Given the description of an element on the screen output the (x, y) to click on. 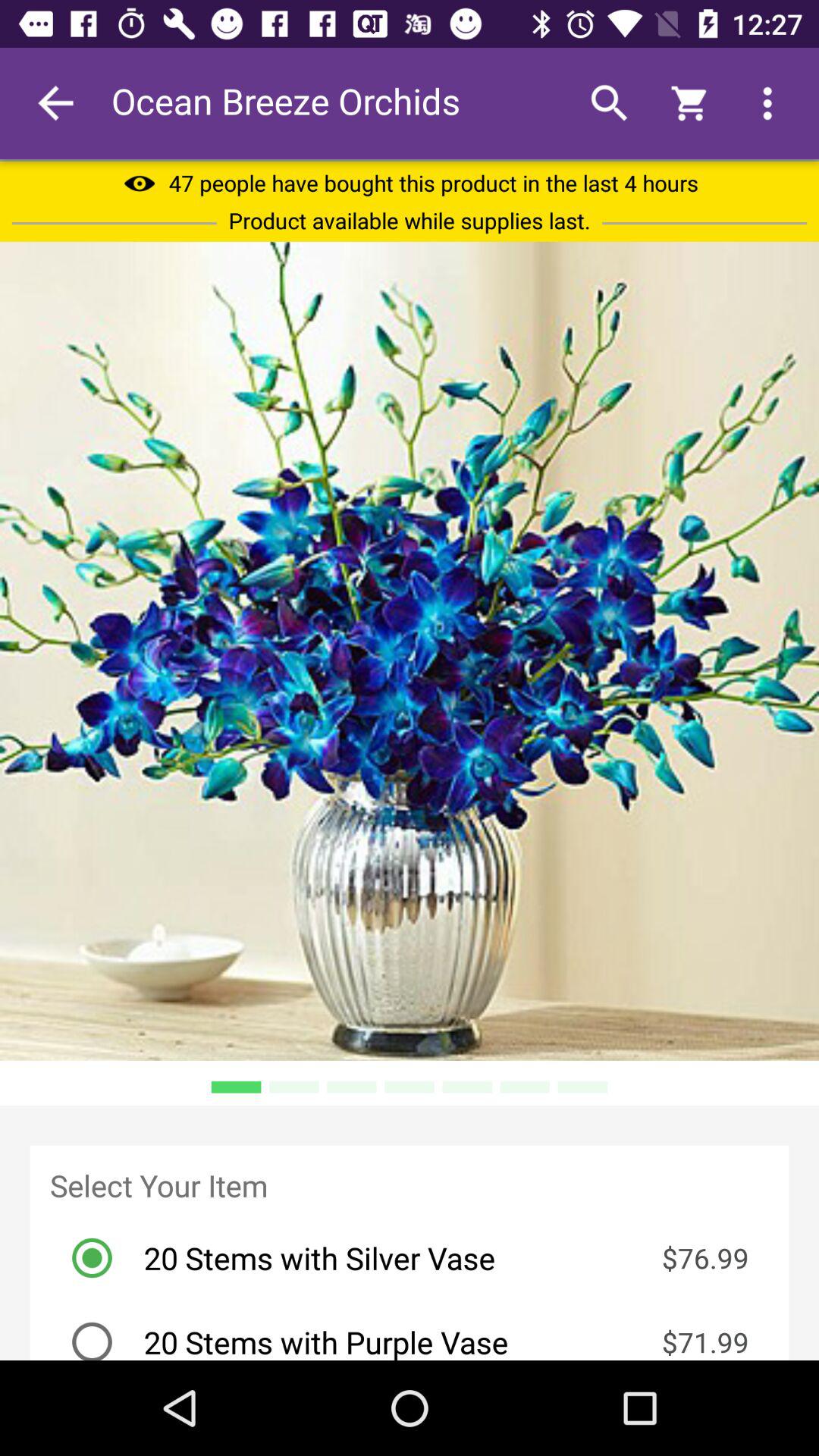
select the item next to ocean breeze orchids (55, 103)
